Given the description of an element on the screen output the (x, y) to click on. 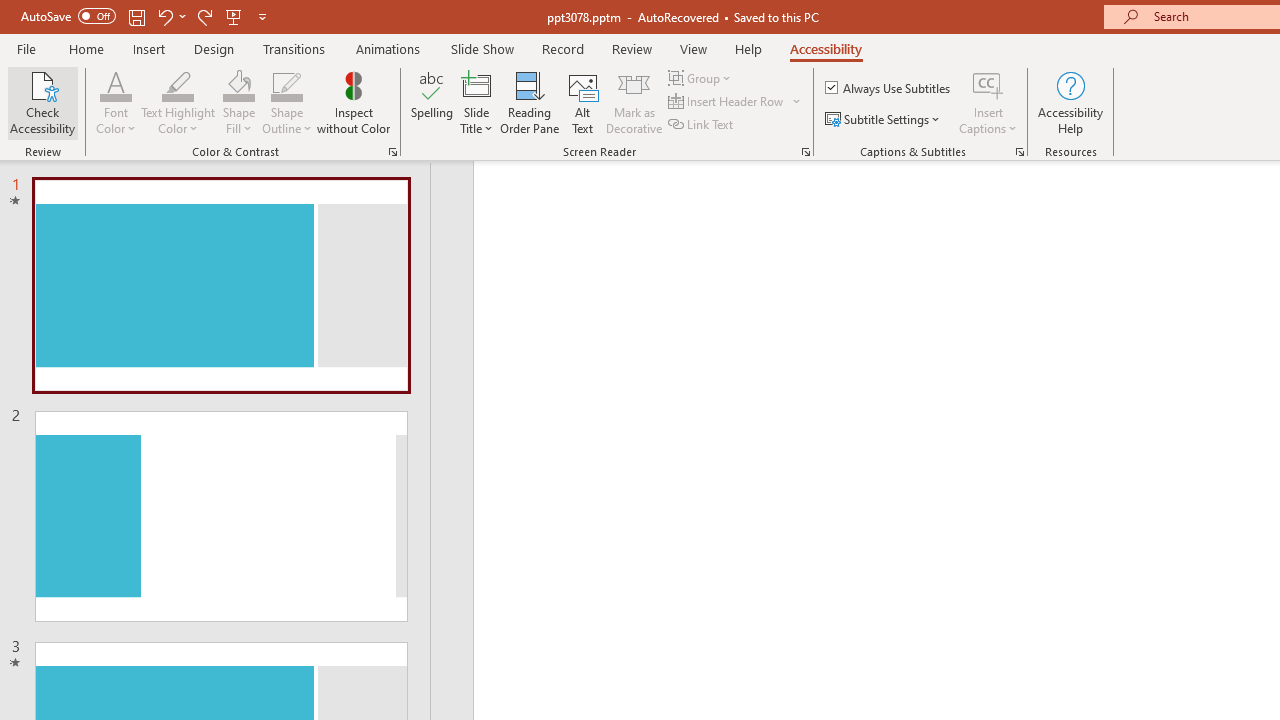
Captions & Subtitles (1019, 151)
Inspect without Color (353, 102)
